Given the description of an element on the screen output the (x, y) to click on. 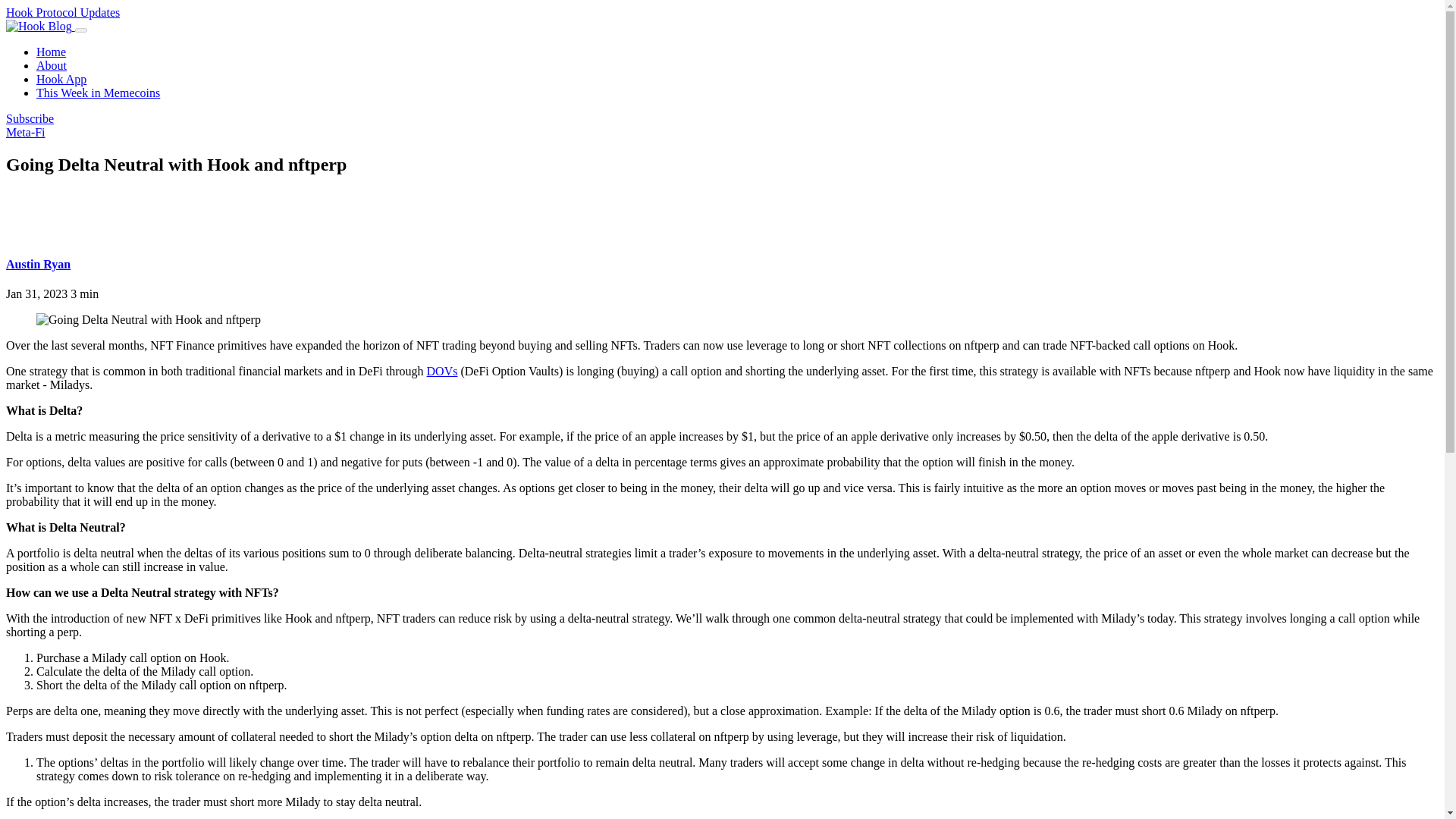
Subscribe (29, 118)
About (51, 65)
DOVs (442, 370)
Hook Protocol Updates (62, 11)
Hook App (60, 78)
Home (50, 51)
This Week in Memecoins (98, 92)
Austin Ryan (37, 264)
Meta-Fi (25, 132)
